Given the description of an element on the screen output the (x, y) to click on. 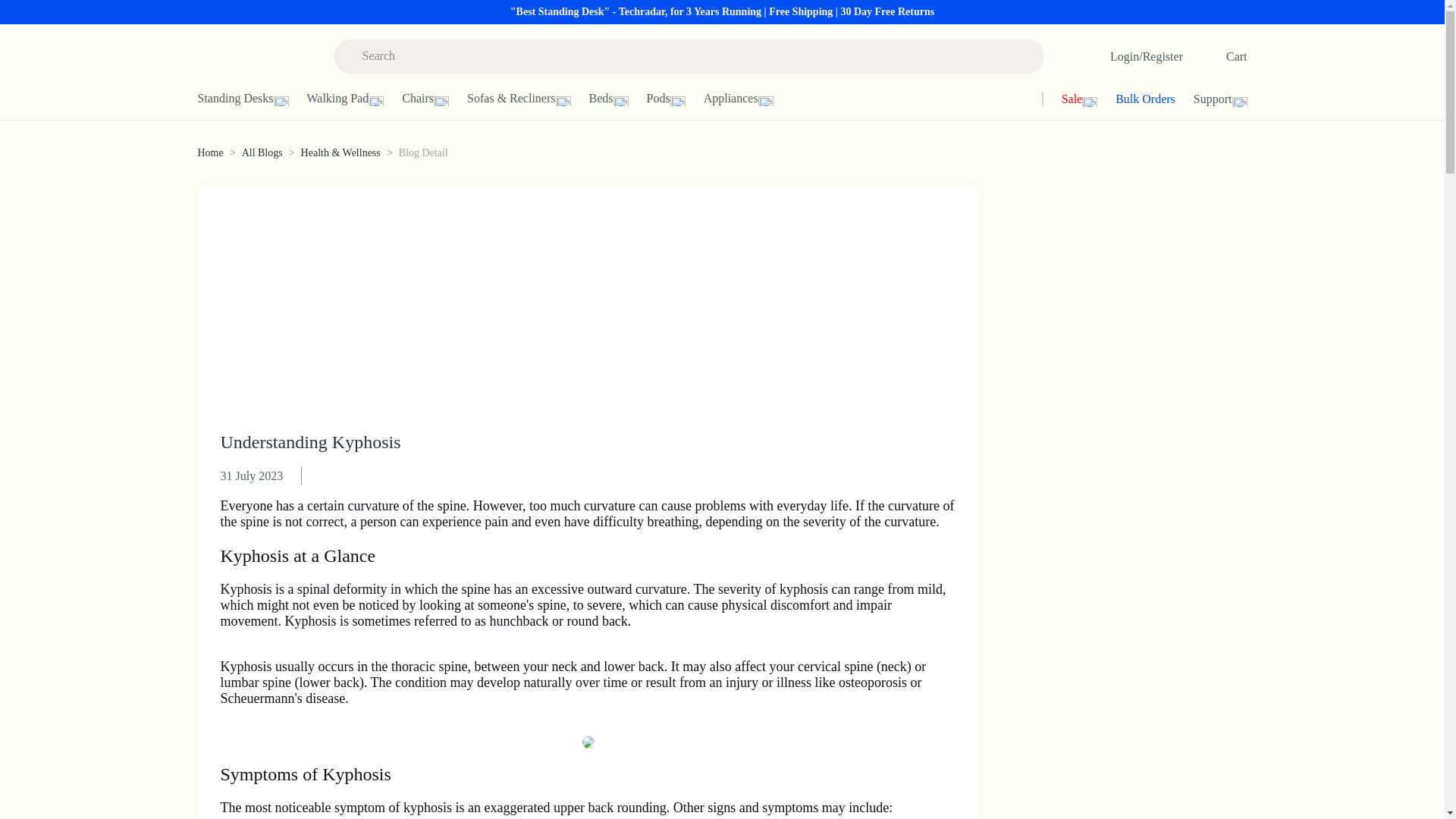
Walking Pad (353, 98)
Beds (617, 98)
Home (209, 152)
All Blogs (261, 152)
Sale (1070, 98)
Pods (674, 98)
Support (1202, 98)
Standing Desks (250, 98)
Chairs (434, 98)
Cart (1219, 55)
